Given the description of an element on the screen output the (x, y) to click on. 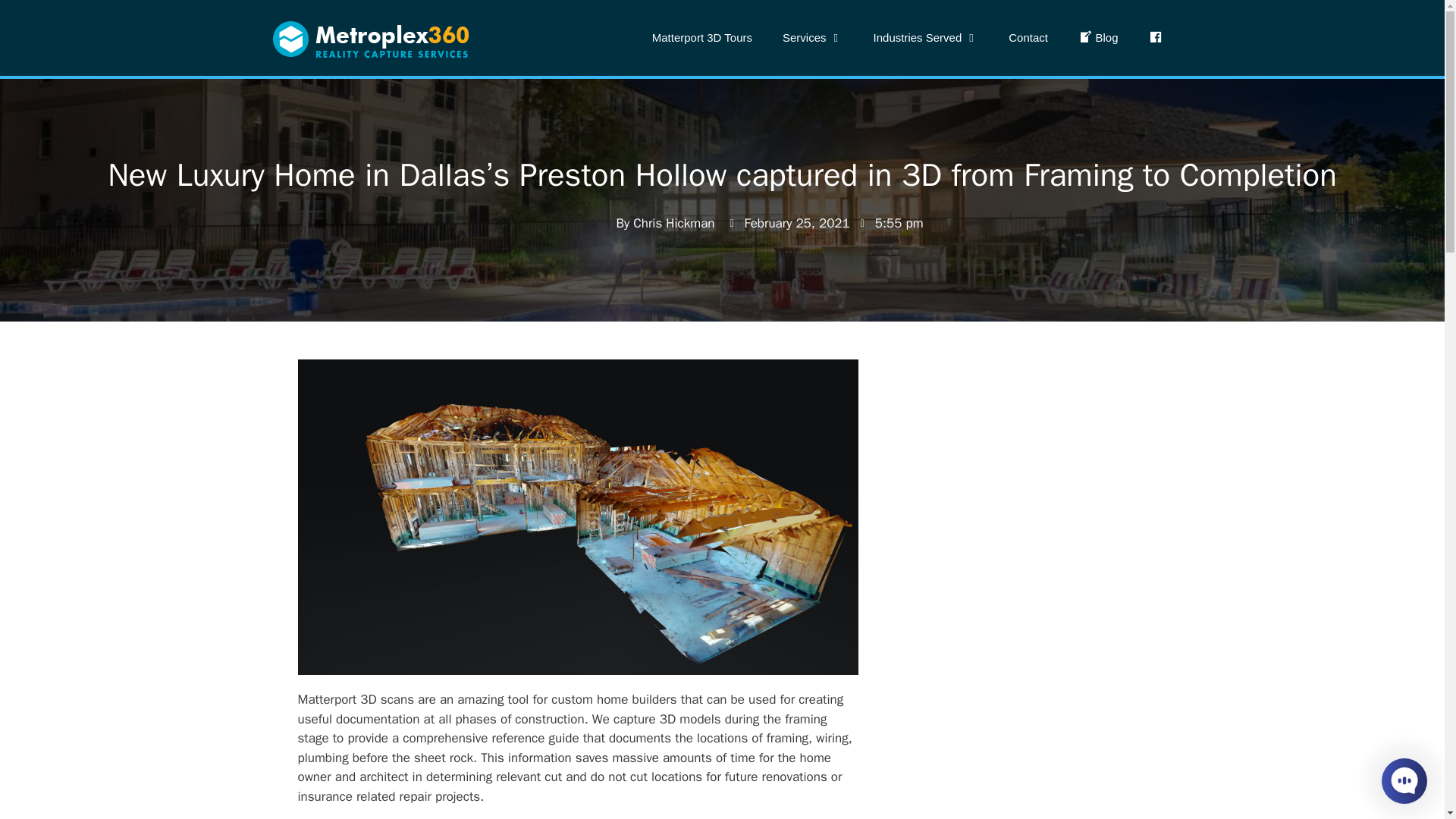
Contact (1027, 37)
Blog (1098, 37)
Services (813, 37)
Facebook (1154, 37)
Matterport 3D Tours (702, 37)
Industries Served (926, 37)
